Given the description of an element on the screen output the (x, y) to click on. 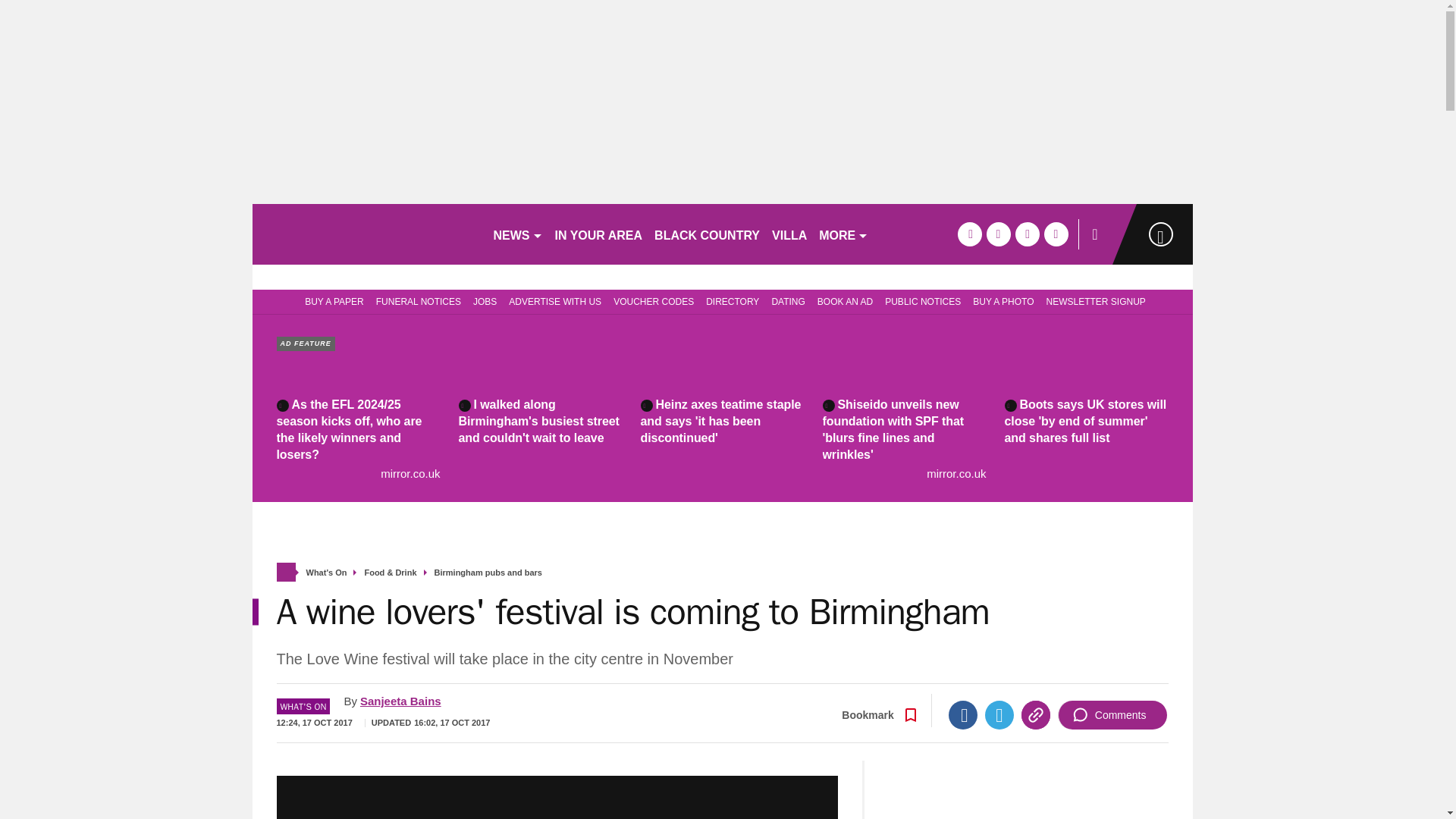
instagram (1055, 233)
NEWS (517, 233)
BLACK COUNTRY (706, 233)
IN YOUR AREA (598, 233)
Facebook (962, 715)
Twitter (999, 715)
facebook (968, 233)
tiktok (1026, 233)
MORE (843, 233)
birminghammail (365, 233)
